Given the description of an element on the screen output the (x, y) to click on. 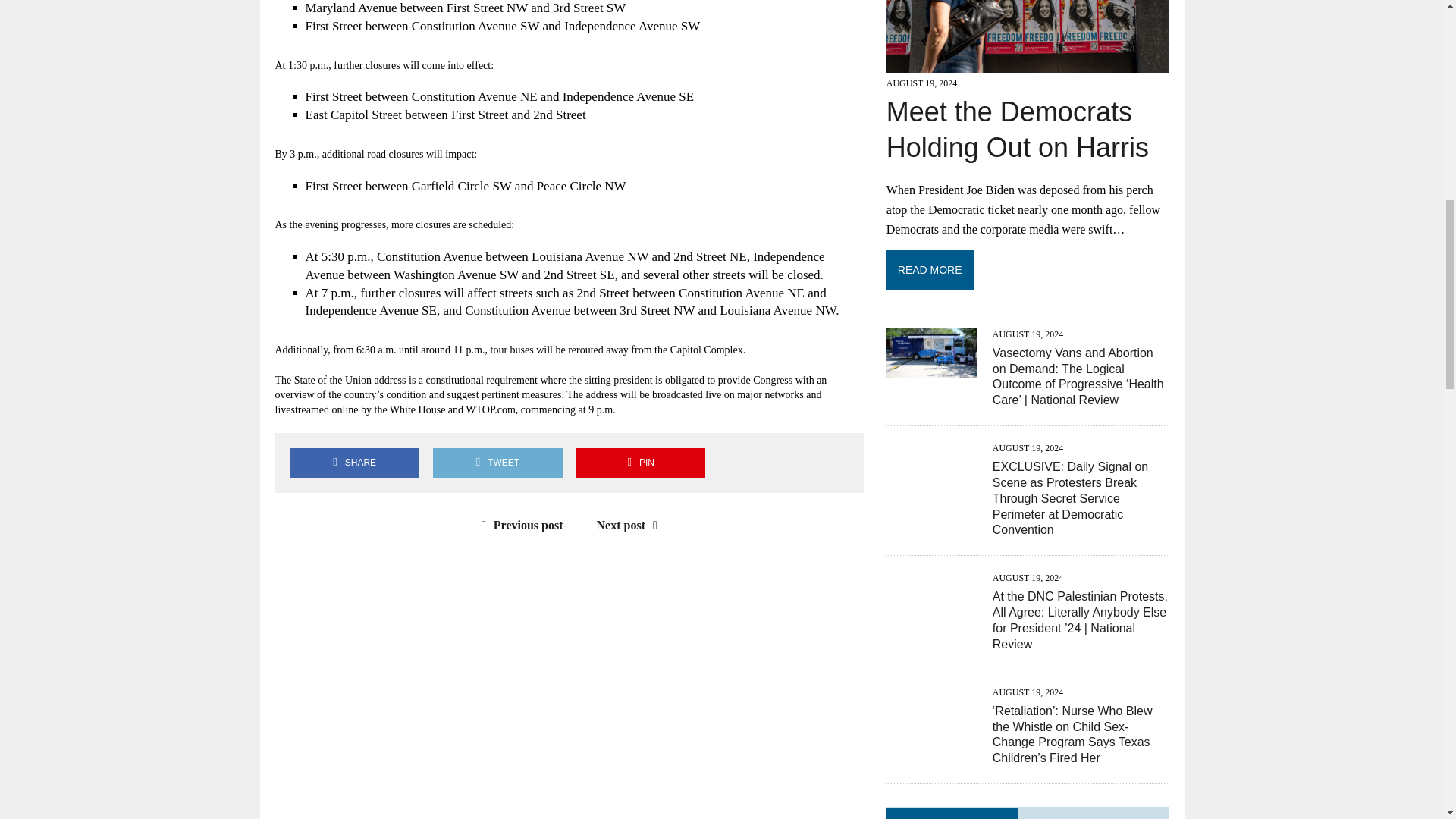
Tweet This Post (497, 462)
PIN (640, 462)
Previous post (518, 524)
Pin This Post (640, 462)
Share on Facebook (354, 462)
Next post (630, 524)
SHARE (354, 462)
TWEET (497, 462)
